Given the description of an element on the screen output the (x, y) to click on. 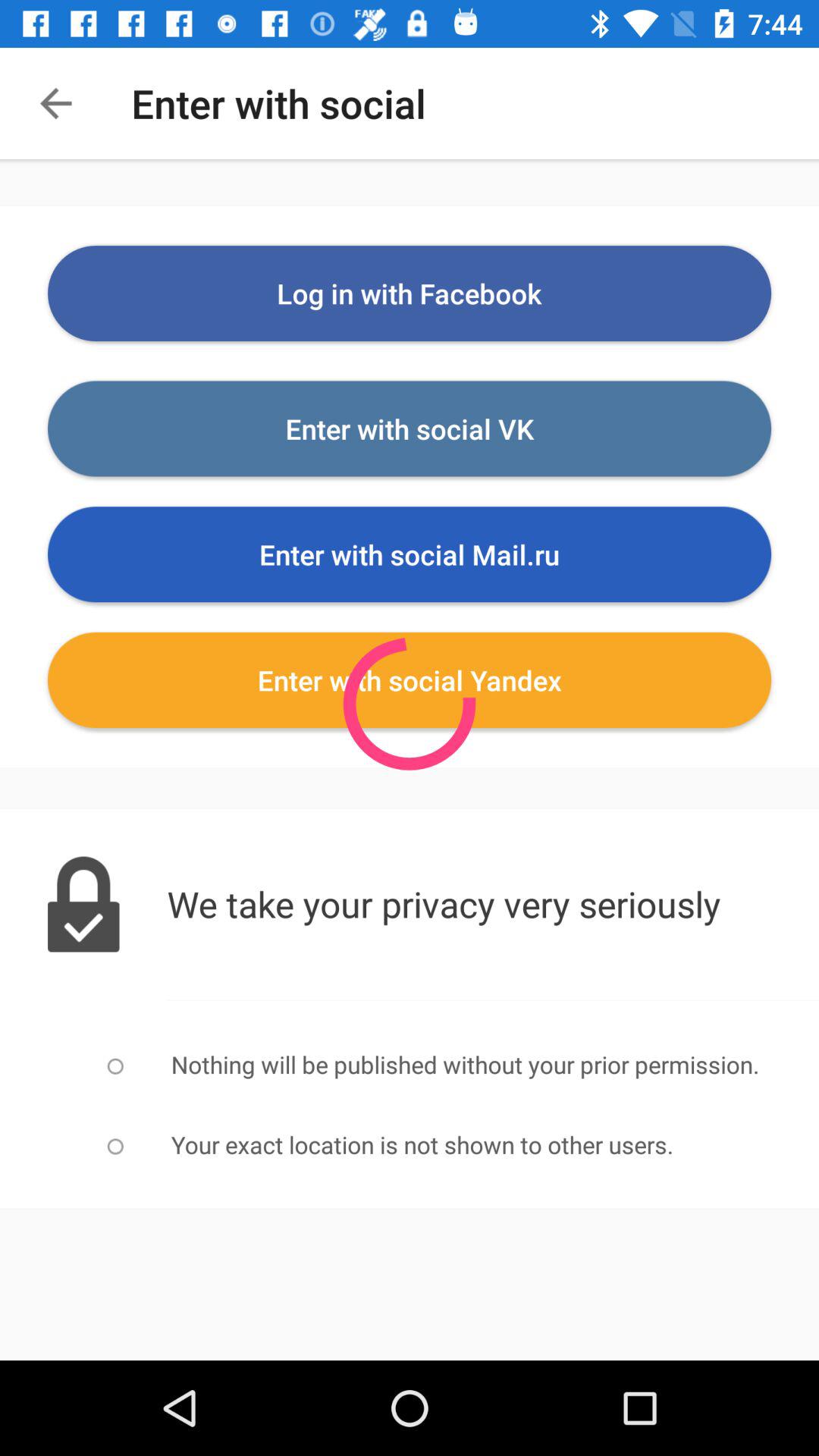
click log in with (409, 293)
